Given the description of an element on the screen output the (x, y) to click on. 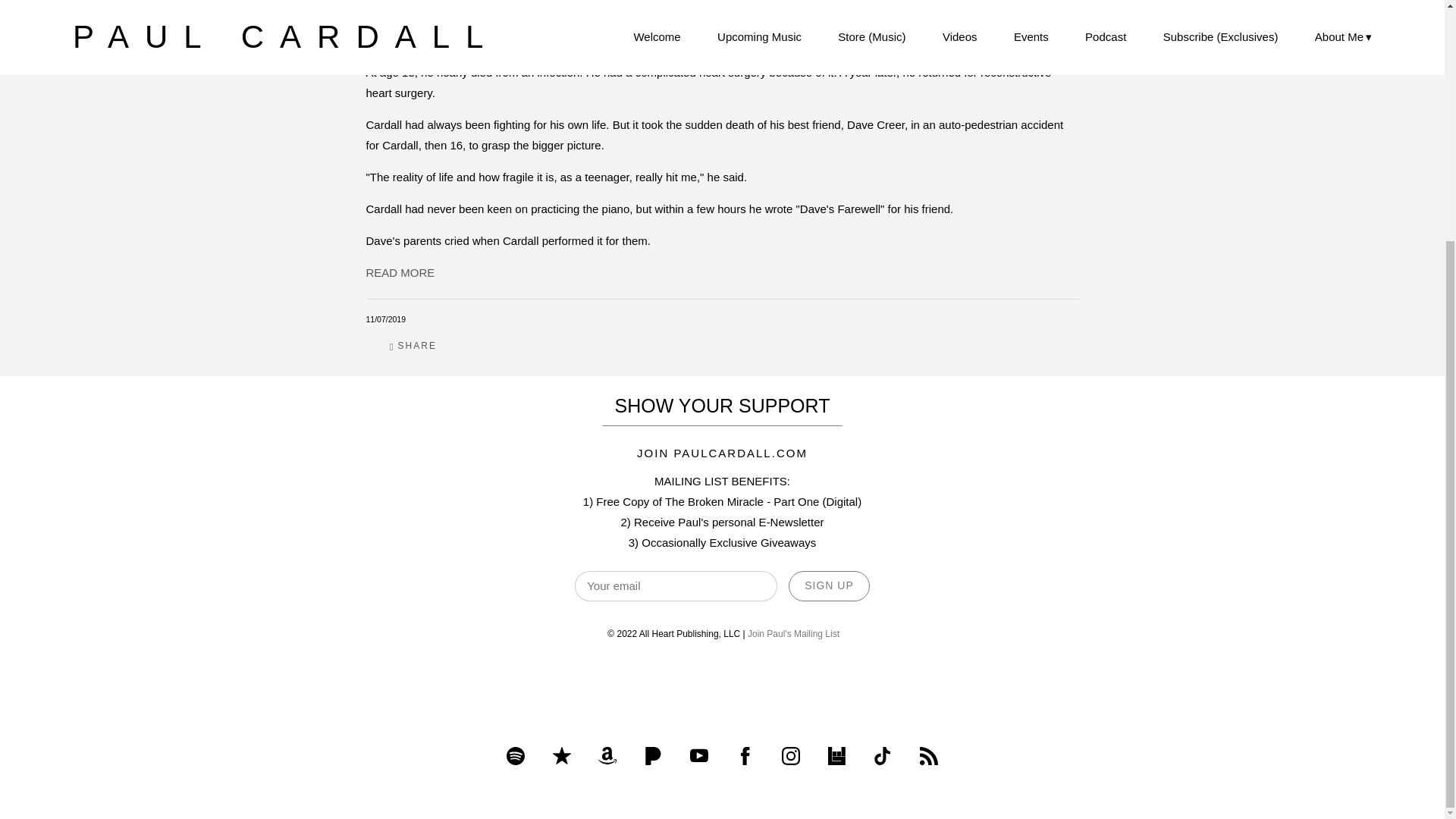
November 07, 2019 13:34 (385, 318)
Share Prolific pianist uses music to heal, inspire (412, 345)
